Given the description of an element on the screen output the (x, y) to click on. 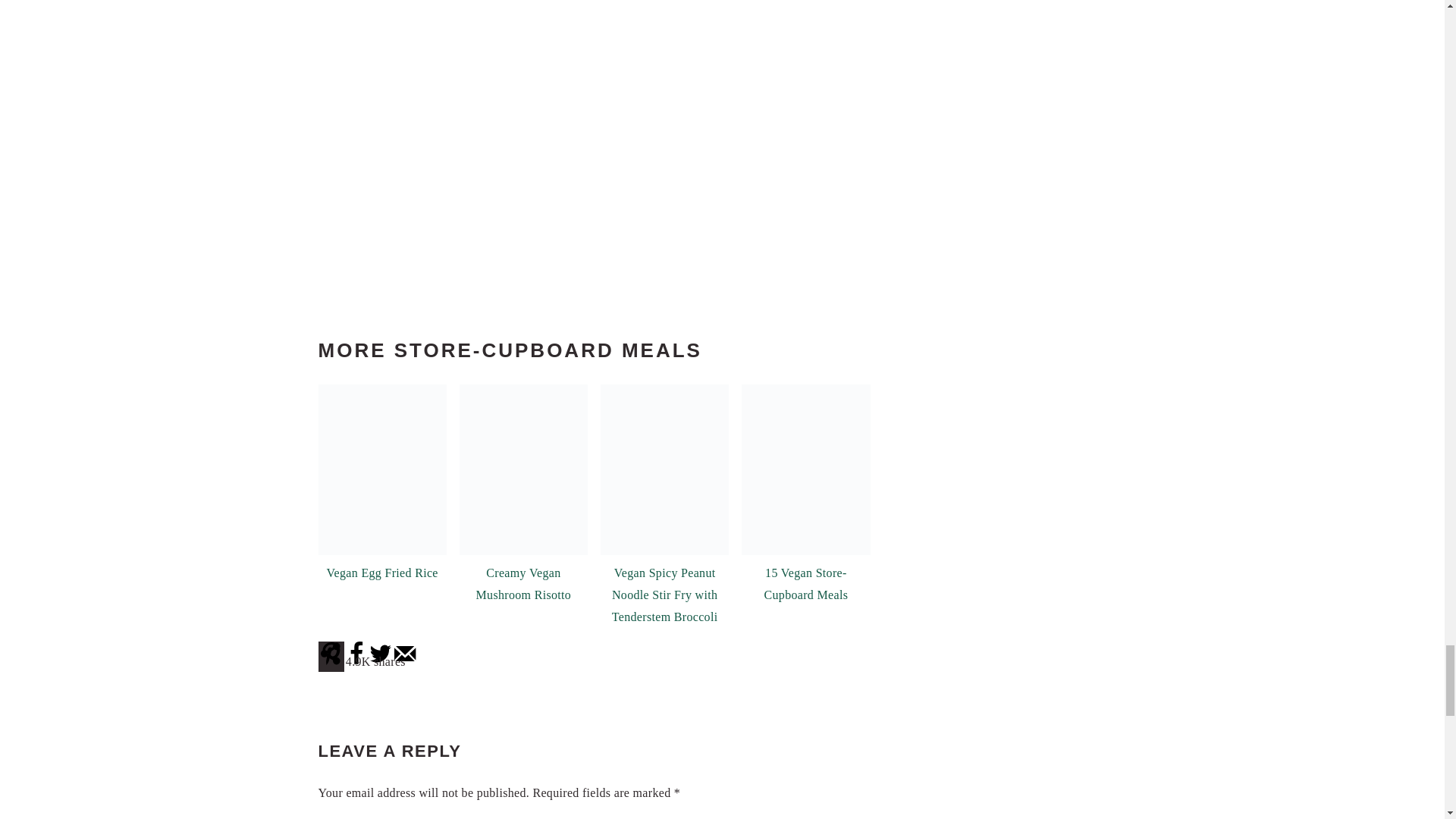
Send over email (404, 662)
Share on Twitter (380, 662)
Share on Facebook (355, 662)
